Given the description of an element on the screen output the (x, y) to click on. 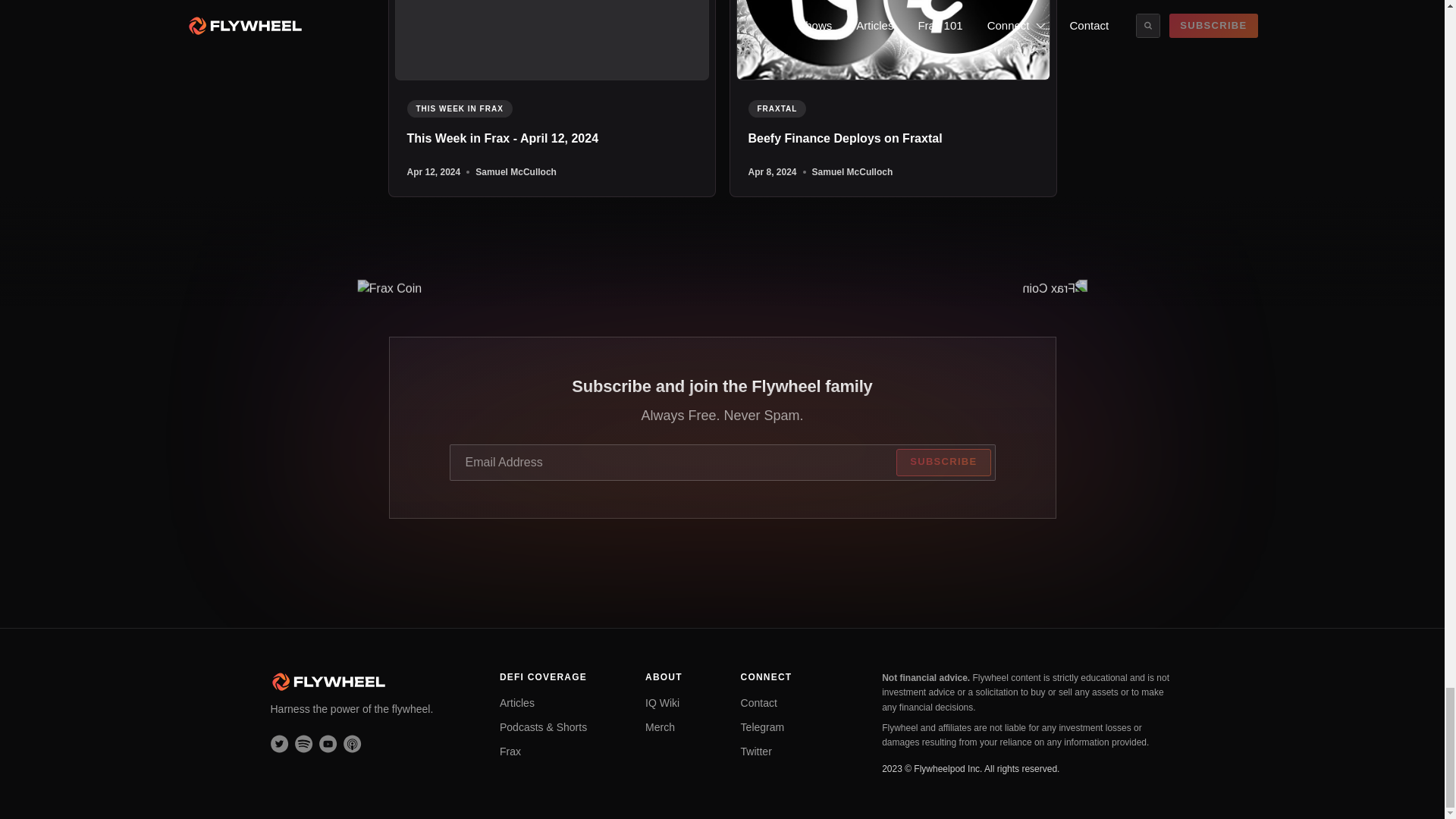
Twitter (756, 750)
Frax (510, 750)
IQ Wiki (662, 702)
Telegram (762, 727)
Articles (516, 702)
Contact (759, 702)
Merch (660, 727)
SUBSCRIBE (943, 461)
